Given the description of an element on the screen output the (x, y) to click on. 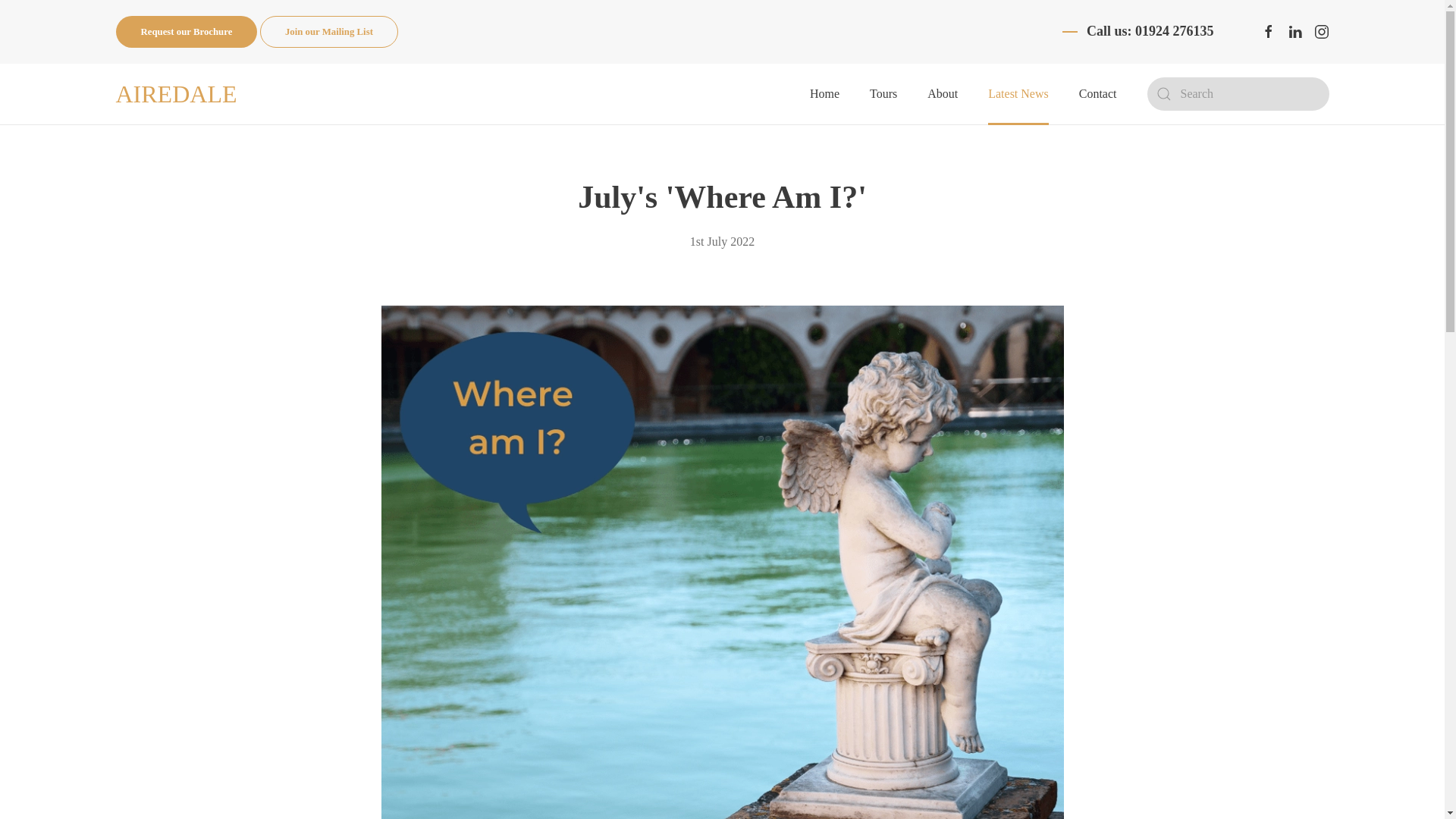
Latest News (1018, 93)
July's 'Where Am I?' (722, 196)
AIREDALE (175, 93)
Request our Brochure (186, 31)
Join our Mailing List (328, 31)
Call us: 01924 276135 (1150, 31)
